Given the description of an element on the screen output the (x, y) to click on. 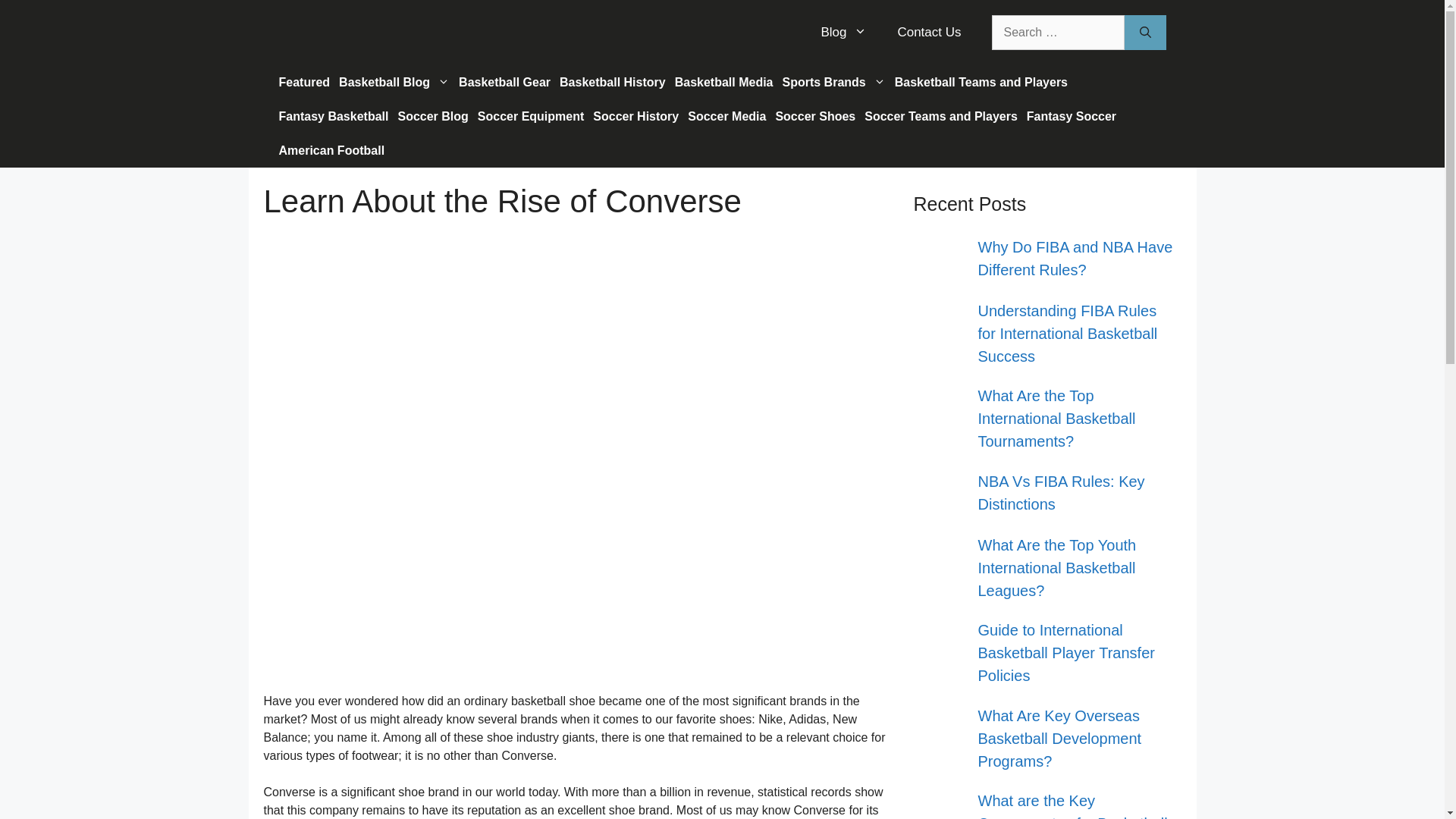
Fantasy Basketball (334, 116)
Soccer Blog (432, 116)
Search for: (1057, 32)
Contact Us (928, 32)
Basketball Blog (394, 82)
Featured (304, 82)
Blog (843, 32)
Basketball History (611, 82)
Soccer Equipment (530, 116)
Basketball Media (723, 82)
